Given the description of an element on the screen output the (x, y) to click on. 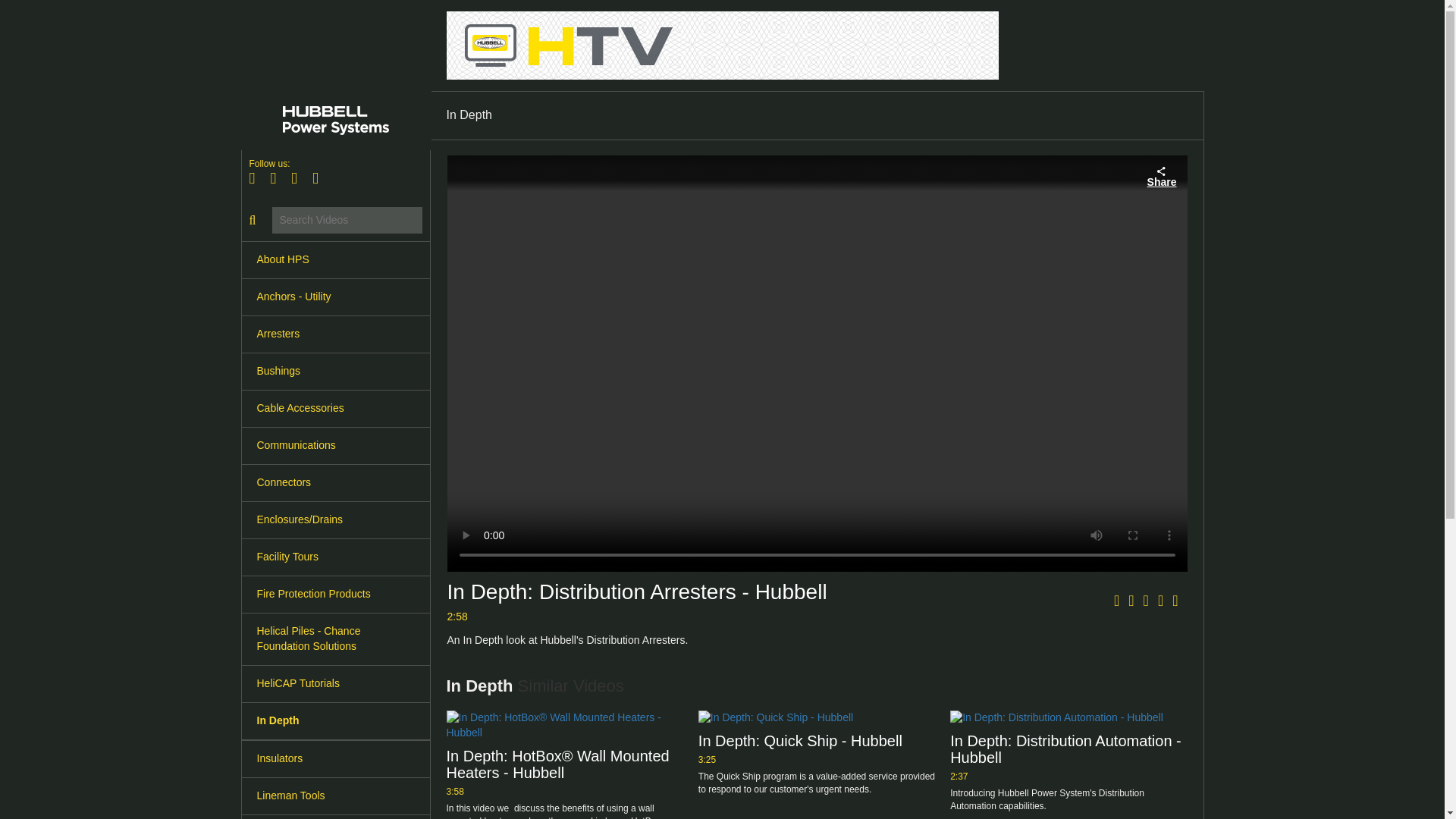
Connectors (335, 483)
Fire Protection Products (335, 594)
Fire Protection Products (335, 594)
About HPS (335, 259)
Follow on X (277, 178)
Insulators (335, 759)
Helical Piles - Chance Foundation Solutions (335, 639)
HeliCAP Tutorials (335, 683)
Connect on LinkedIn (320, 178)
Cable Accessories (335, 408)
